Given the description of an element on the screen output the (x, y) to click on. 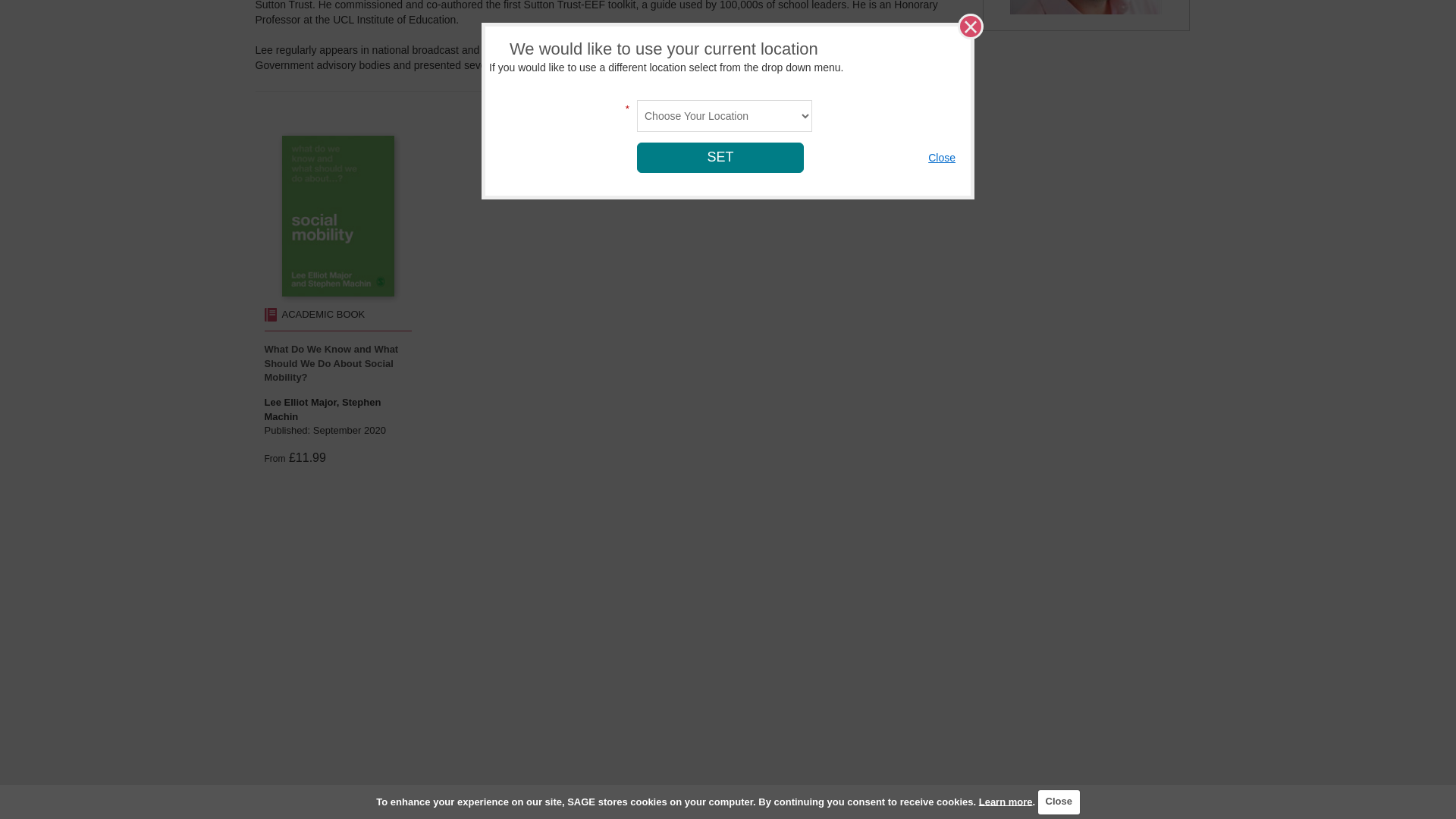
ACADEMIC-ICON CREATED WITH SKETCH. (269, 314)
